Given the description of an element on the screen output the (x, y) to click on. 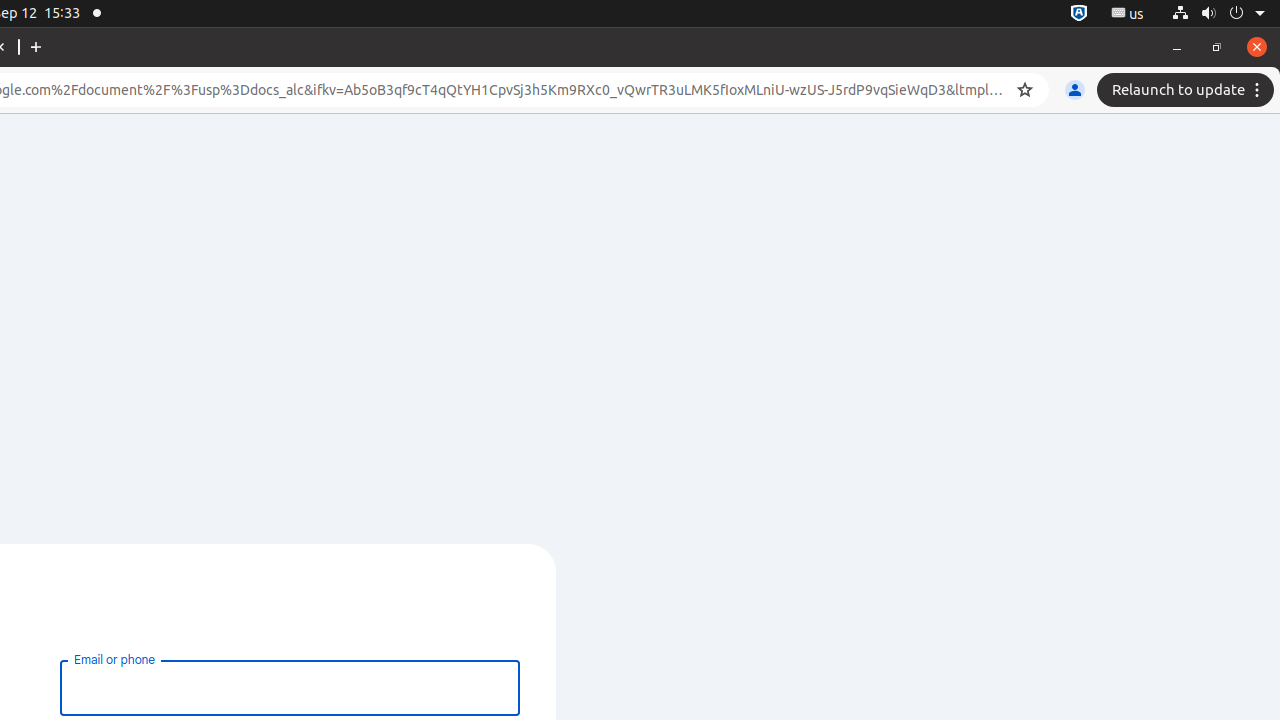
Bookmark this tab Element type: push-button (1025, 90)
:1.21/StatusNotifierItem Element type: menu (1127, 13)
Relaunch to update Element type: push-button (1188, 90)
System Element type: menu (1218, 13)
:1.72/StatusNotifierItem Element type: menu (1079, 13)
